Given the description of an element on the screen output the (x, y) to click on. 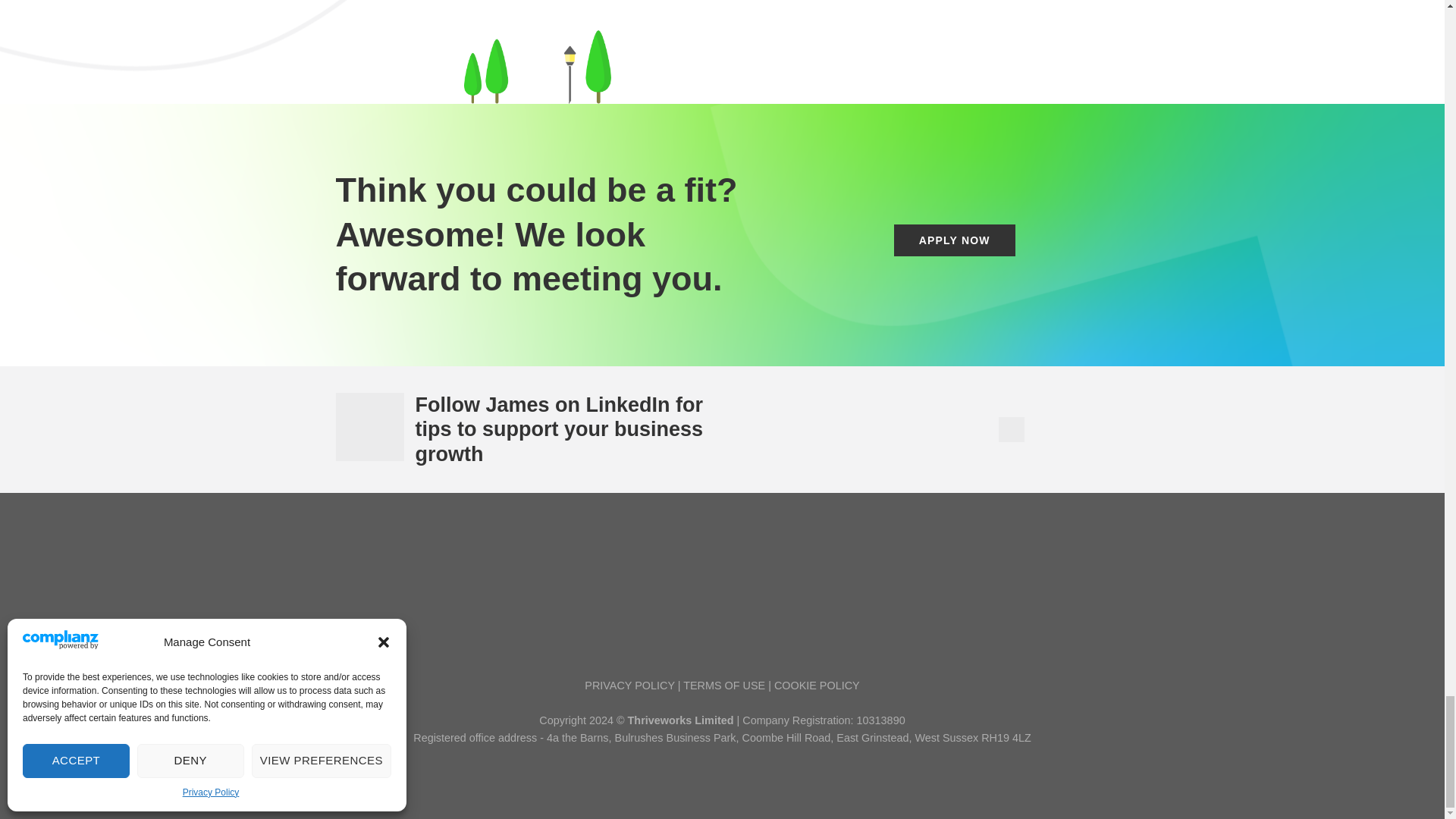
TERMS OF USE (723, 685)
PRIVACY POLICY (629, 685)
COOKIE POLICY (817, 685)
read our cookie policy (817, 685)
APPLY NOW (953, 240)
